Given the description of an element on the screen output the (x, y) to click on. 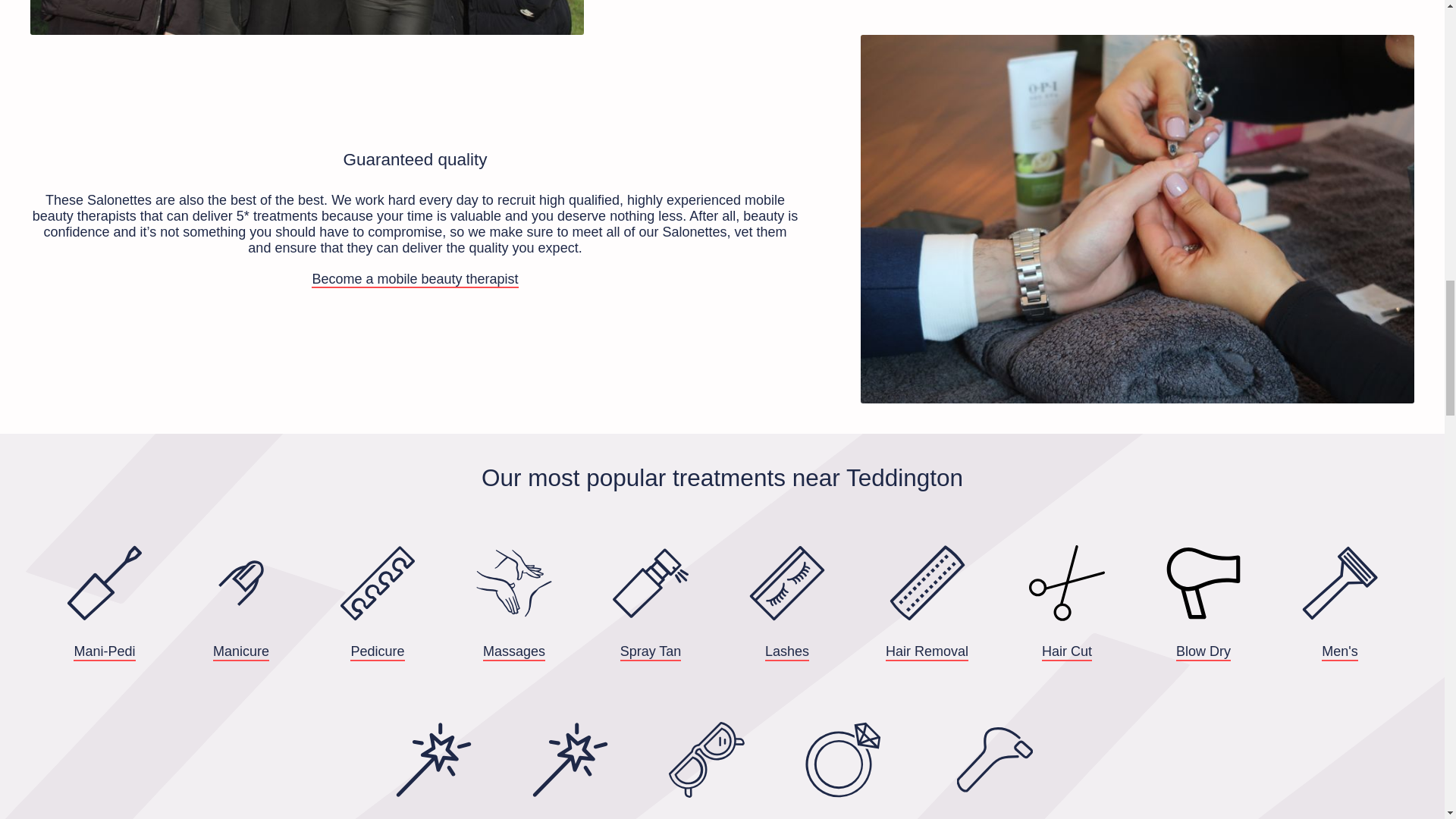
IPL Hair Removal (995, 770)
Become a mobile beauty therapist (414, 279)
